Given the description of an element on the screen output the (x, y) to click on. 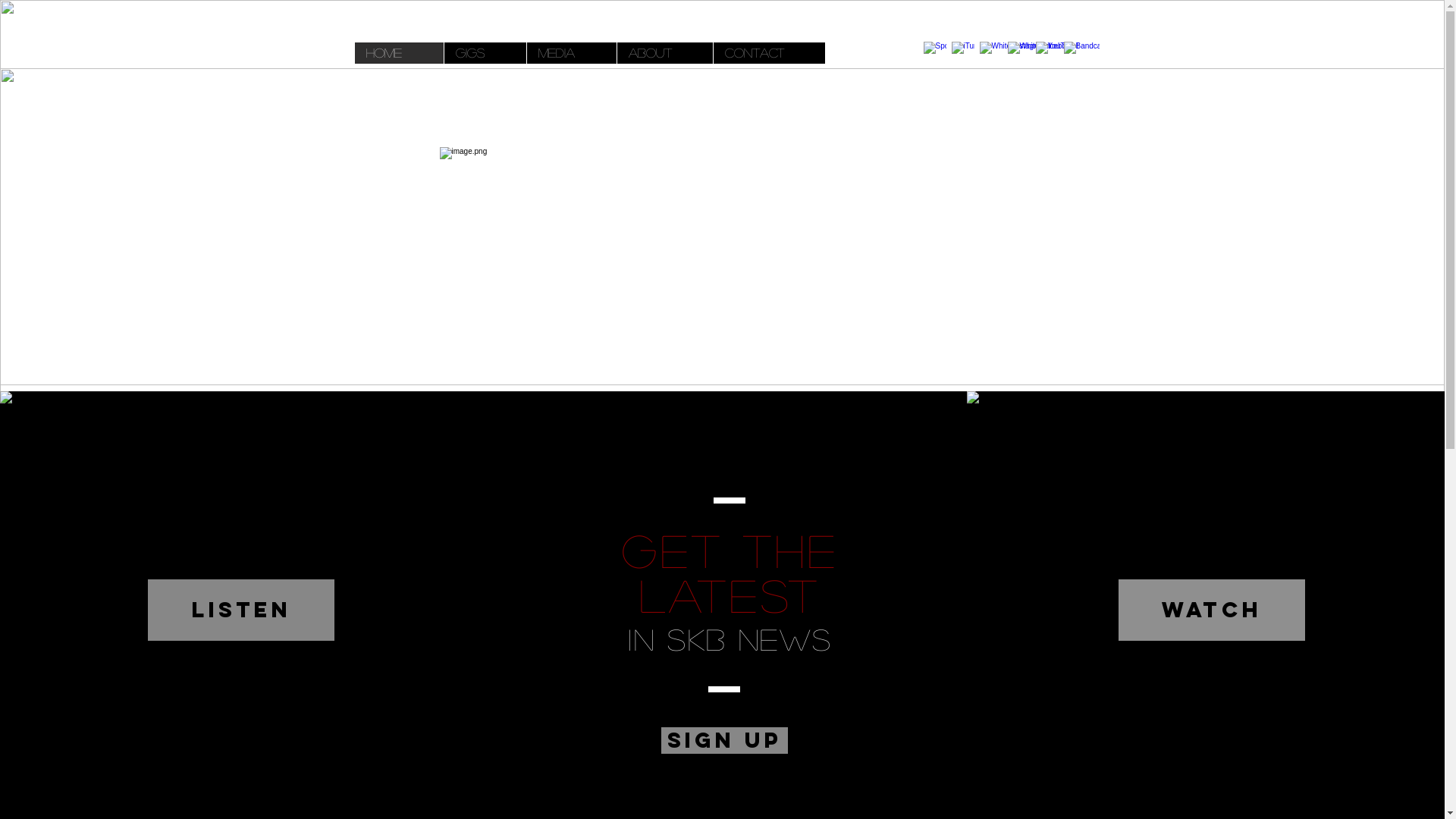
listen Element type: text (240, 609)
MEDIA Element type: text (571, 52)
GIGS Element type: text (483, 52)
Sign Up Element type: text (724, 740)
HOME Element type: text (398, 52)
Watch Element type: text (1211, 609)
CONTACT Element type: text (768, 52)
ABOUT Element type: text (663, 52)
